Given the description of an element on the screen output the (x, y) to click on. 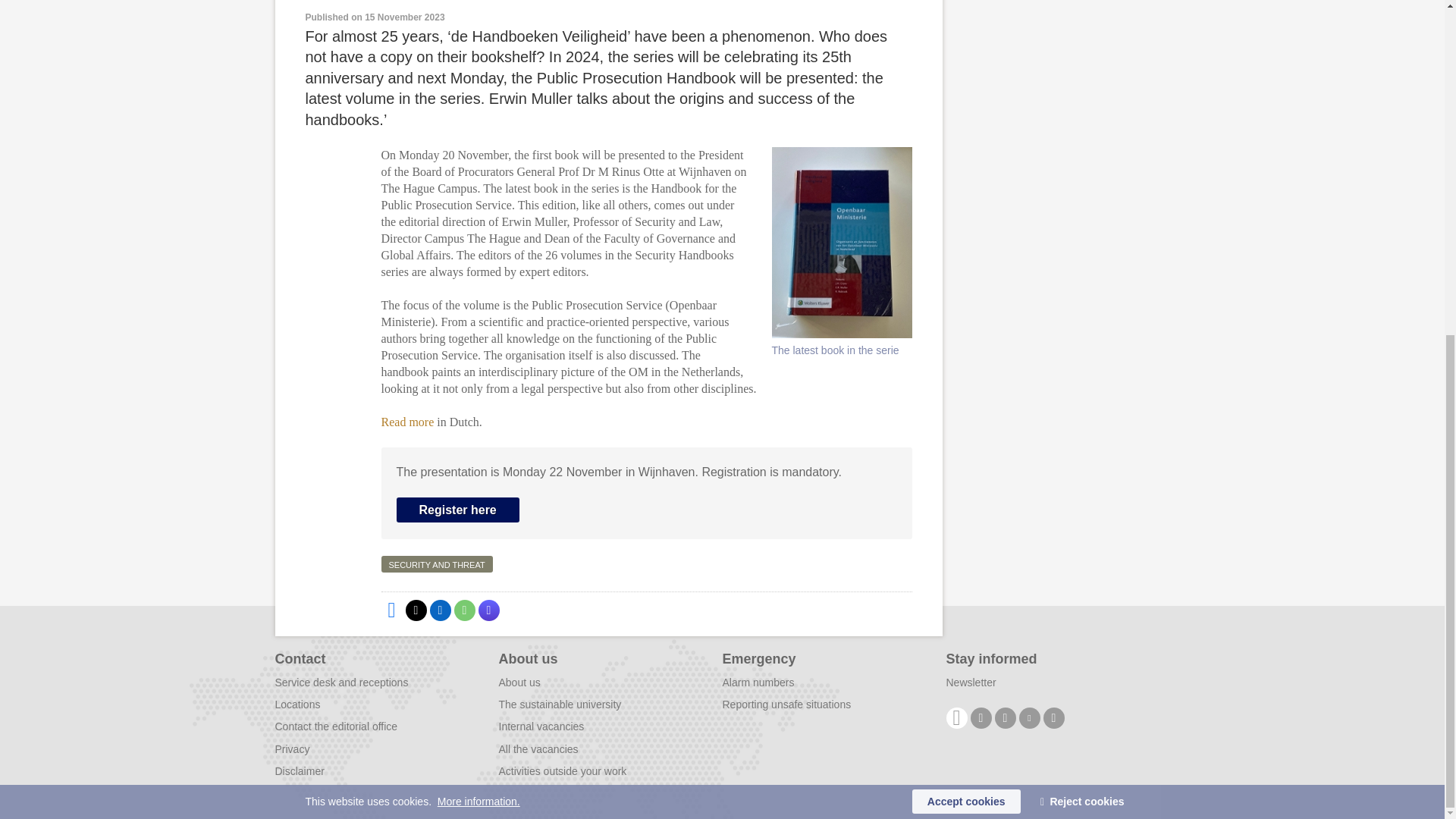
Register here (457, 509)
Share on LinkedIn (439, 609)
Share on X (415, 609)
Share by Mastodon (488, 609)
Service desk and receptions (341, 682)
Contact the editorial office (336, 726)
Share by WhatsApp (463, 609)
Locations (297, 704)
Share on Facebook (390, 609)
Read more (408, 421)
